Given the description of an element on the screen output the (x, y) to click on. 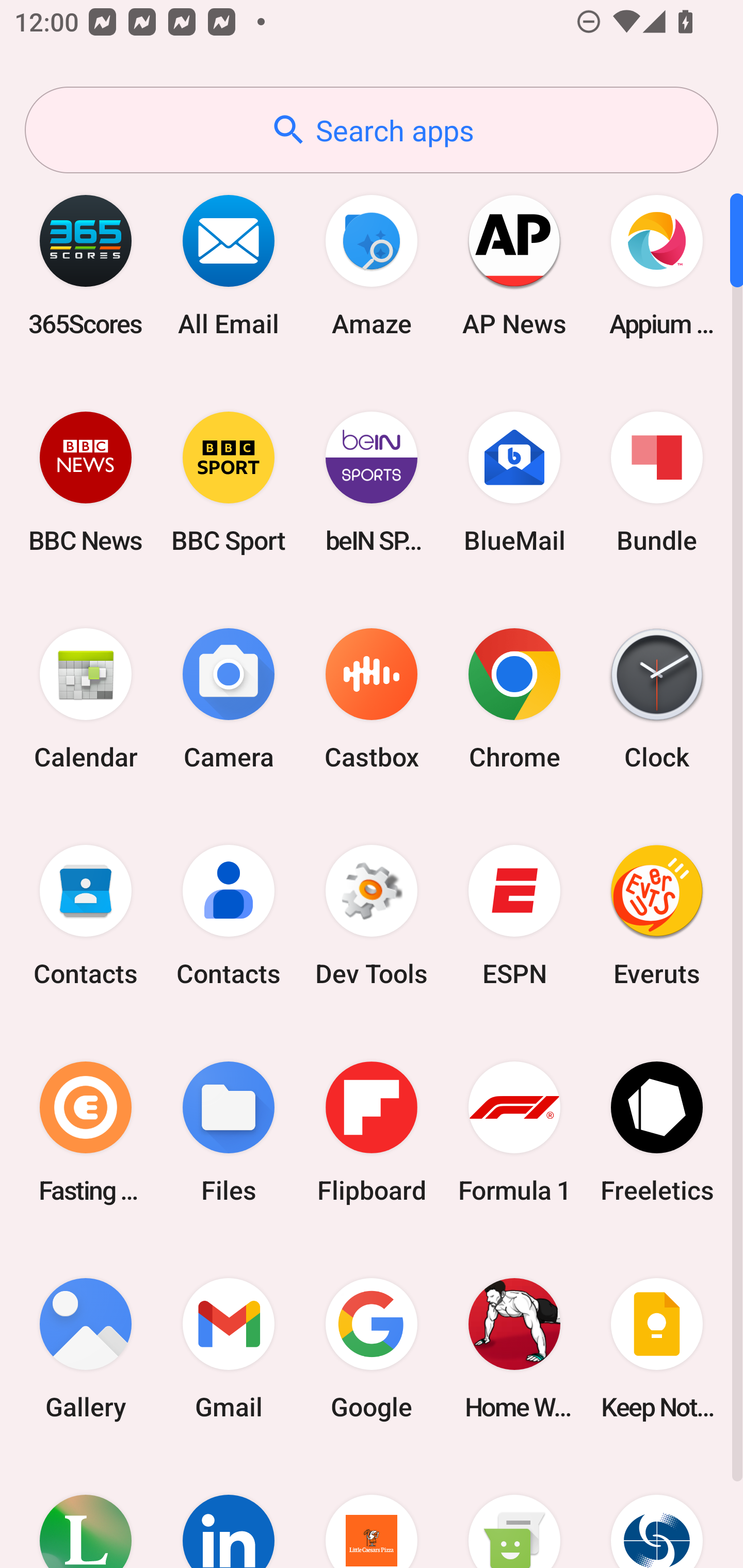
  Search apps (371, 130)
365Scores (85, 264)
All Email (228, 264)
Amaze (371, 264)
AP News (514, 264)
Appium Settings (656, 264)
BBC News (85, 482)
BBC Sport (228, 482)
beIN SPORTS (371, 482)
BlueMail (514, 482)
Bundle (656, 482)
Calendar (85, 699)
Camera (228, 699)
Castbox (371, 699)
Chrome (514, 699)
Clock (656, 699)
Contacts (85, 915)
Contacts (228, 915)
Dev Tools (371, 915)
ESPN (514, 915)
Everuts (656, 915)
Fasting Coach (85, 1131)
Files (228, 1131)
Flipboard (371, 1131)
Formula 1 (514, 1131)
Freeletics (656, 1131)
Gallery (85, 1348)
Gmail (228, 1348)
Google (371, 1348)
Home Workout (514, 1348)
Keep Notes (656, 1348)
